Given the description of an element on the screen output the (x, y) to click on. 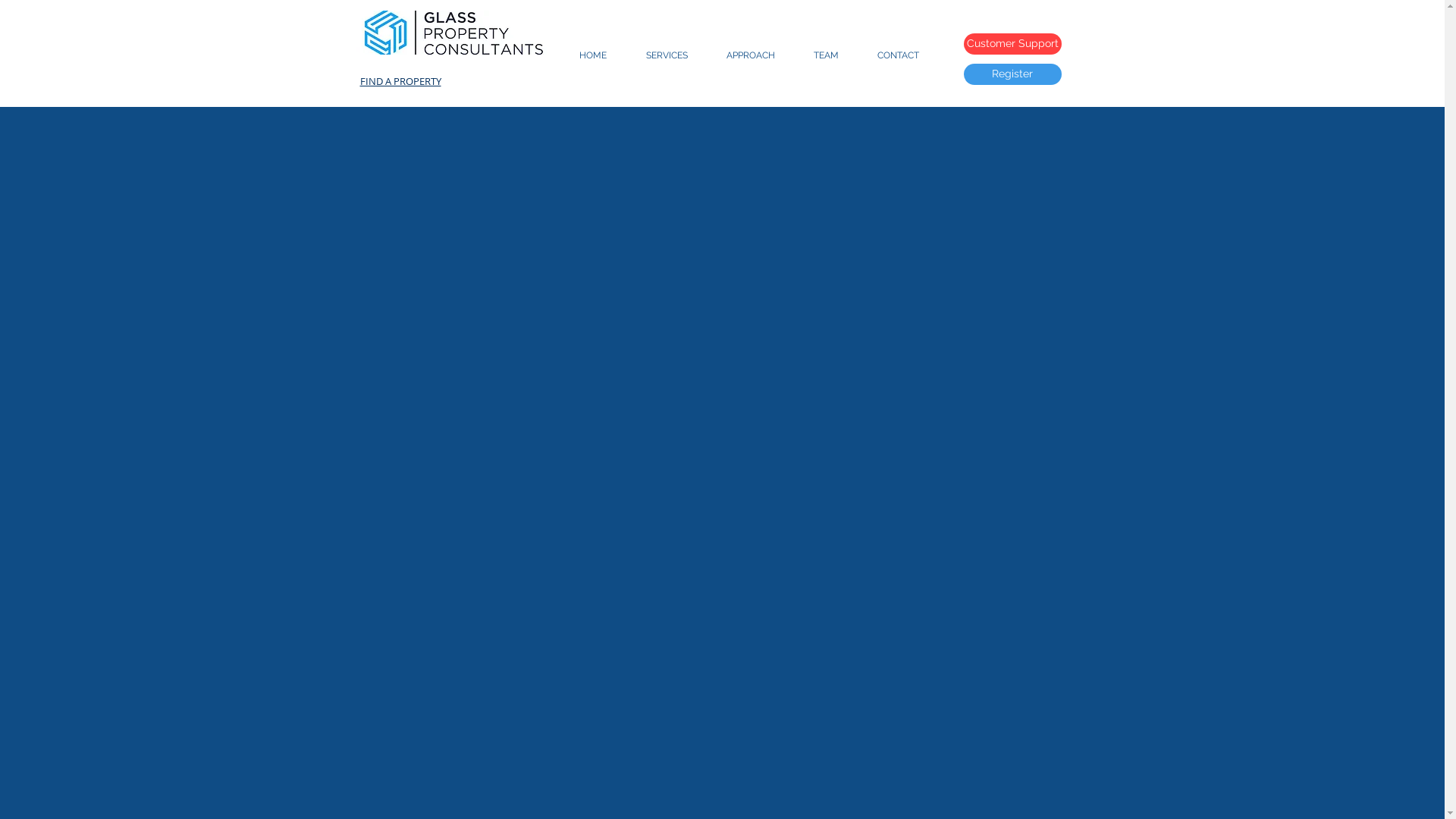
APPROACH Element type: text (749, 55)
TEAM Element type: text (826, 55)
Customer Support Element type: text (1011, 43)
HOME Element type: text (592, 55)
FIND A PROPERTY Element type: text (399, 80)
SERVICES Element type: text (666, 55)
Register Element type: text (1011, 73)
CONTACT Element type: text (898, 55)
